Given the description of an element on the screen output the (x, y) to click on. 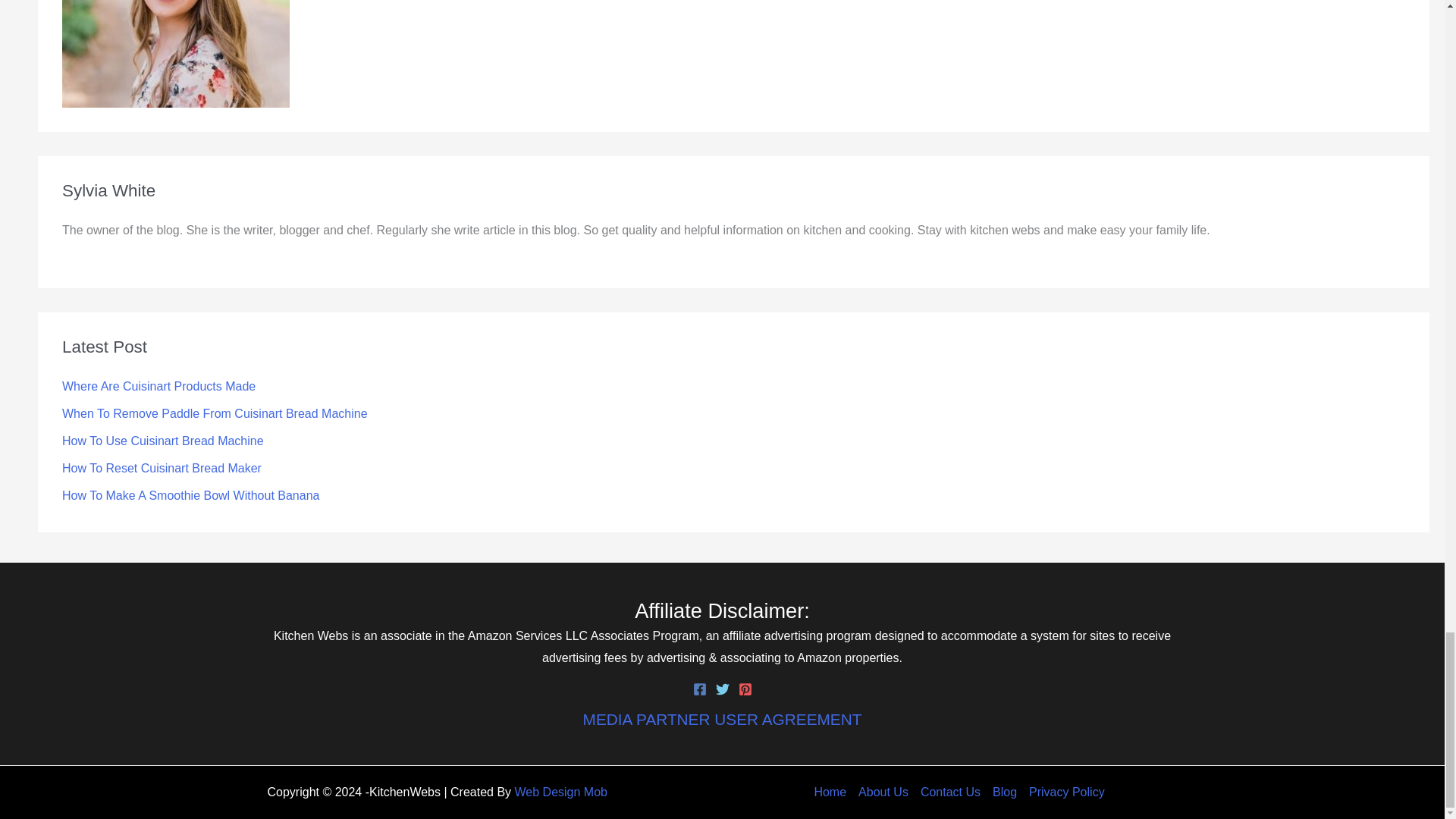
How To Use Cuisinart Bread Machine (162, 440)
Where Are Cuisinart Products Made (159, 386)
When To Remove Paddle From Cuisinart Bread Machine (215, 413)
How To Reset Cuisinart Bread Maker (162, 468)
How To Make A Smoothie Bowl Without Banana (190, 495)
